Given the description of an element on the screen output the (x, y) to click on. 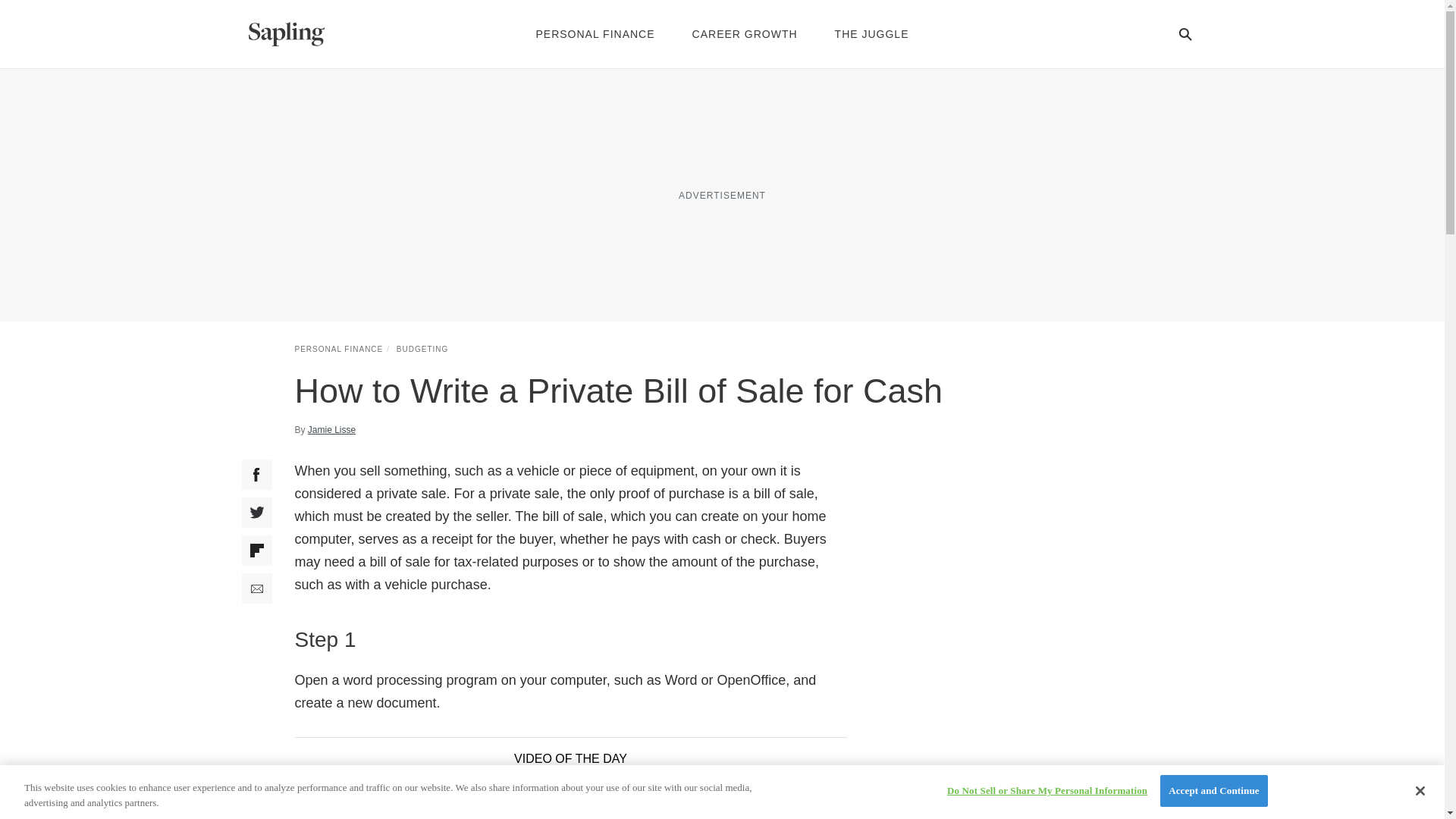
3rd party ad content (721, 194)
3rd party ad content (1035, 554)
PERSONAL FINANCE (338, 348)
BUDGETING (422, 348)
Jamie Lisse (331, 429)
